Given the description of an element on the screen output the (x, y) to click on. 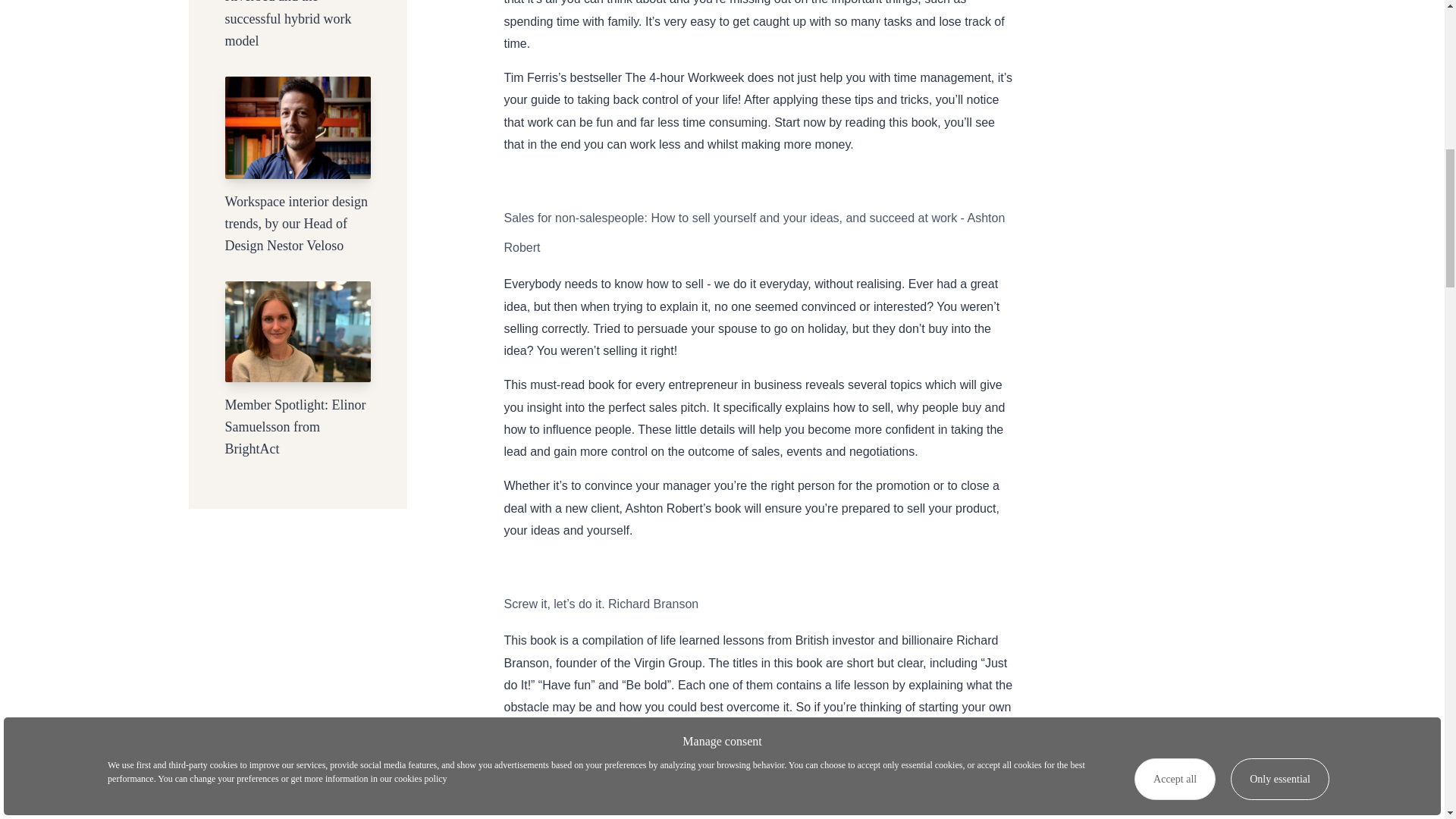
Member Spotlight: Elinor Samuelsson from BrightAct (296, 376)
